Given the description of an element on the screen output the (x, y) to click on. 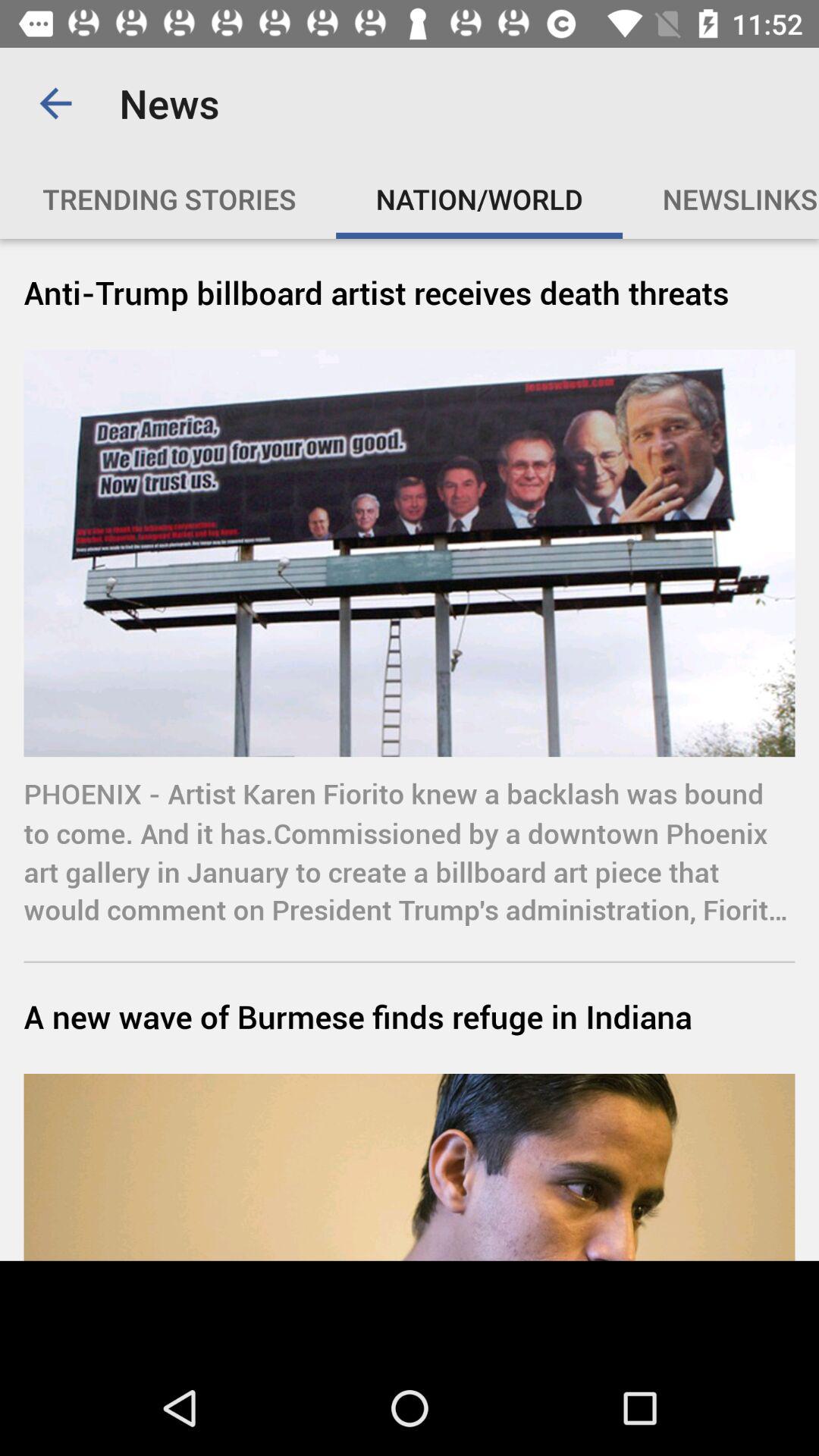
select app to the left of the news icon (55, 103)
